Given the description of an element on the screen output the (x, y) to click on. 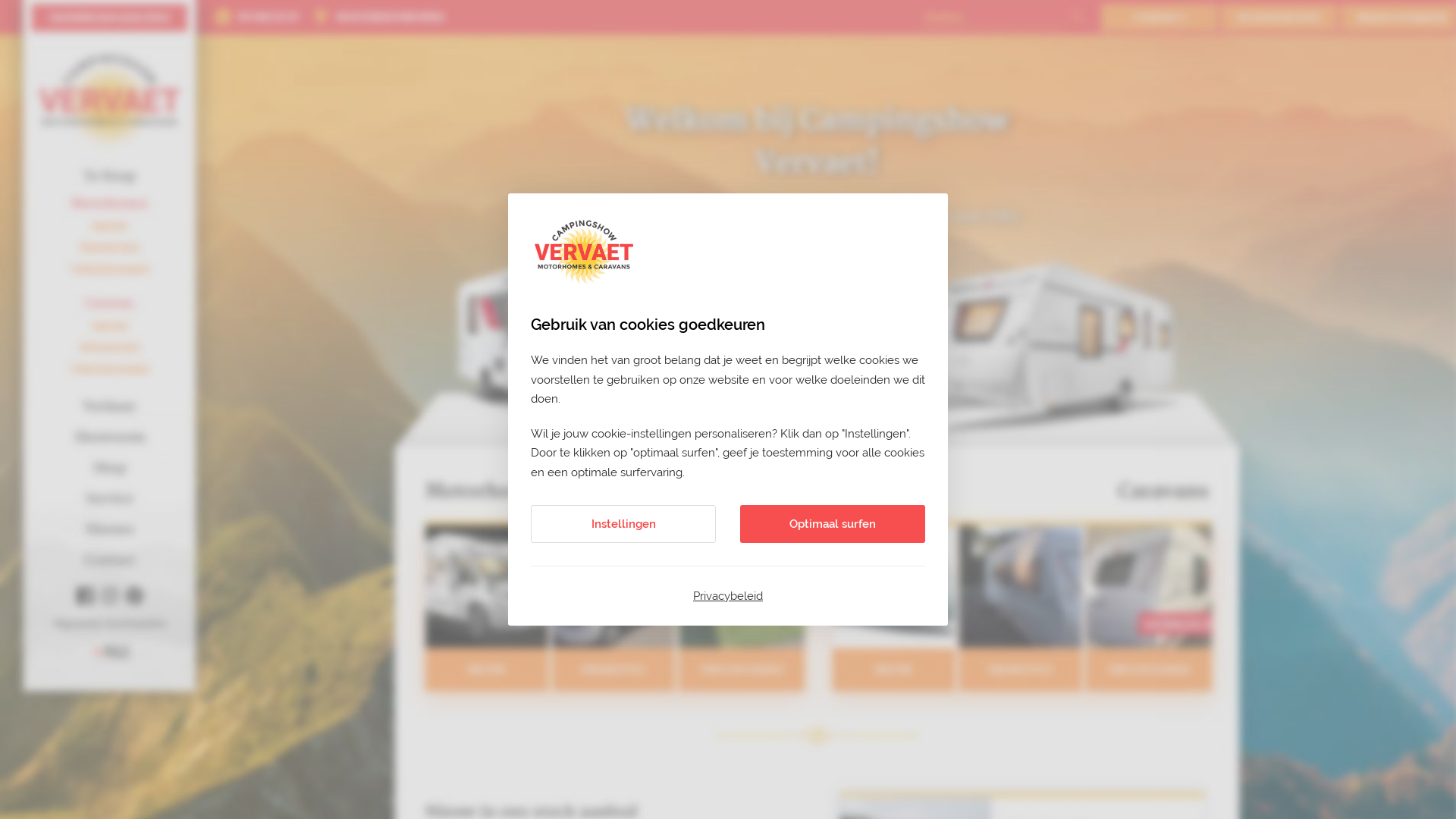
Privacybeleid Element type: text (727, 595)
Instellingen Element type: text (622, 523)
Optimaal surfen Element type: text (832, 523)
